Given the description of an element on the screen output the (x, y) to click on. 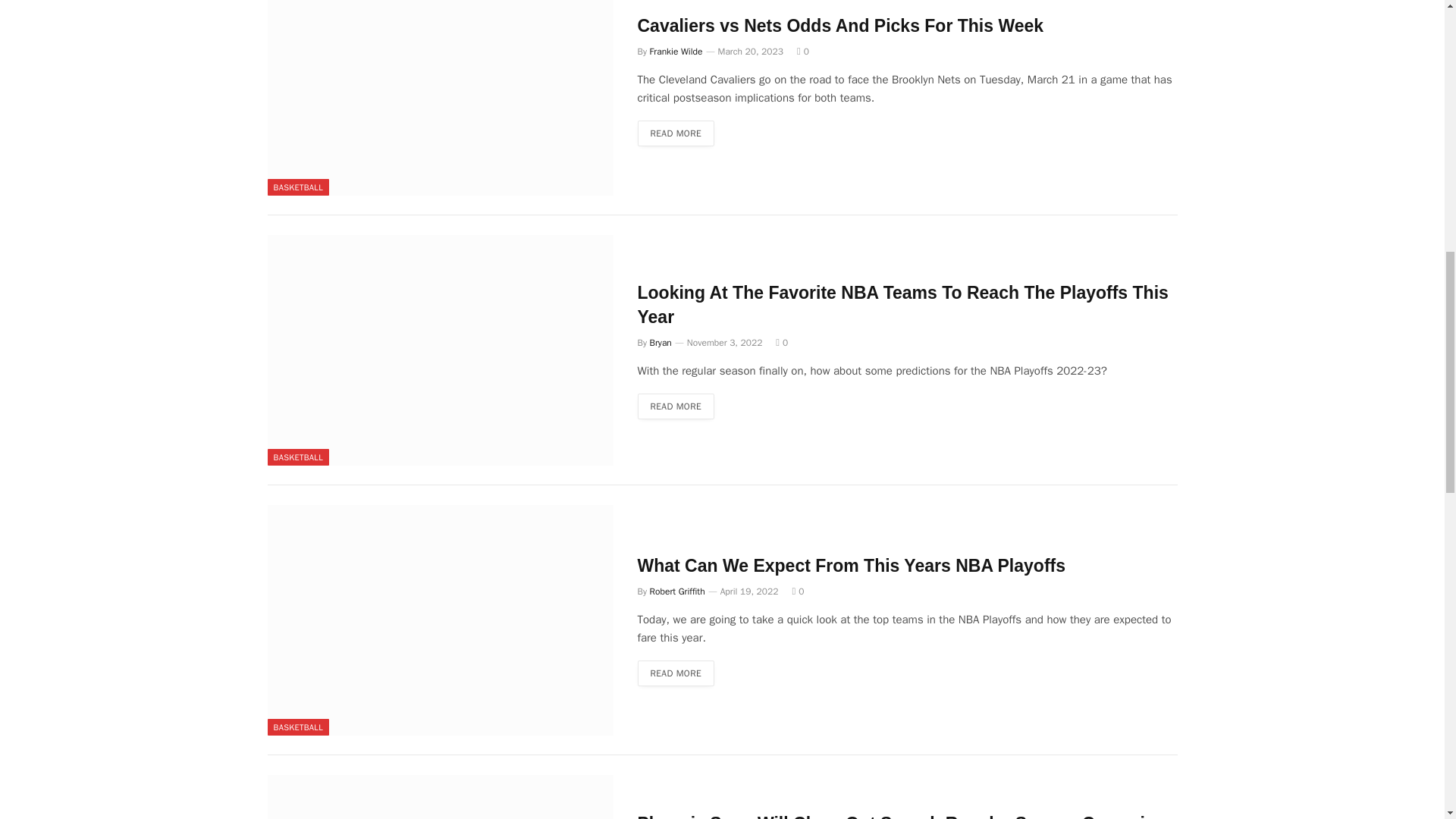
Cavaliers vs Nets Odds And Picks For This Week (439, 97)
What Can We Expect From This Years NBA Playoffs (439, 620)
Posts by Bryan (660, 342)
Posts by Frankie Wilde (676, 51)
